Given the description of an element on the screen output the (x, y) to click on. 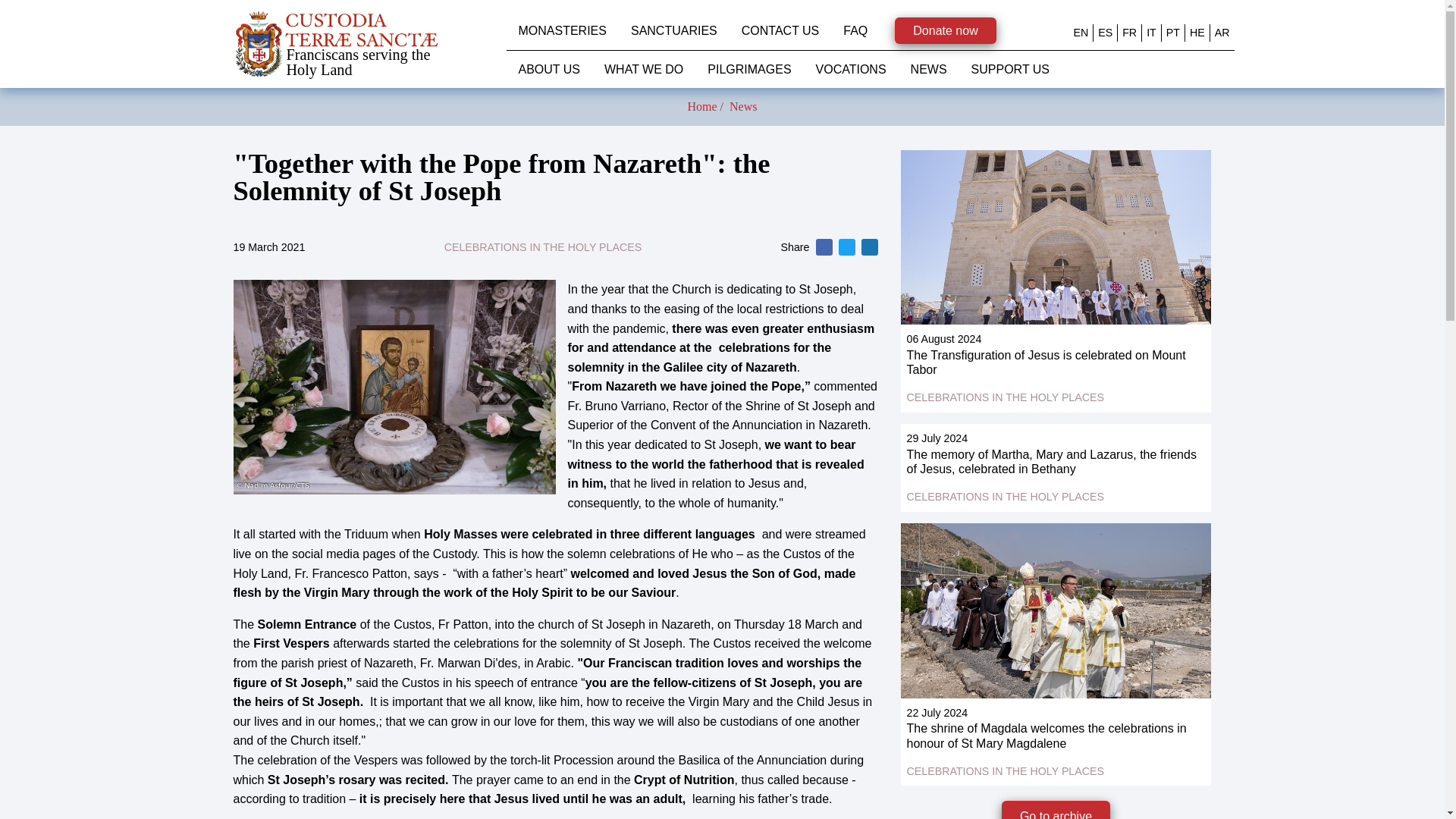
Donate now (945, 30)
SANCTUARIES (673, 30)
FAQ (855, 30)
EN (1080, 32)
ES (1104, 32)
Donate now (944, 30)
Franciscans serving the Holy Land (369, 43)
MONASTERIES (562, 30)
CONTACT US (780, 30)
FR (1129, 32)
